Given the description of an element on the screen output the (x, y) to click on. 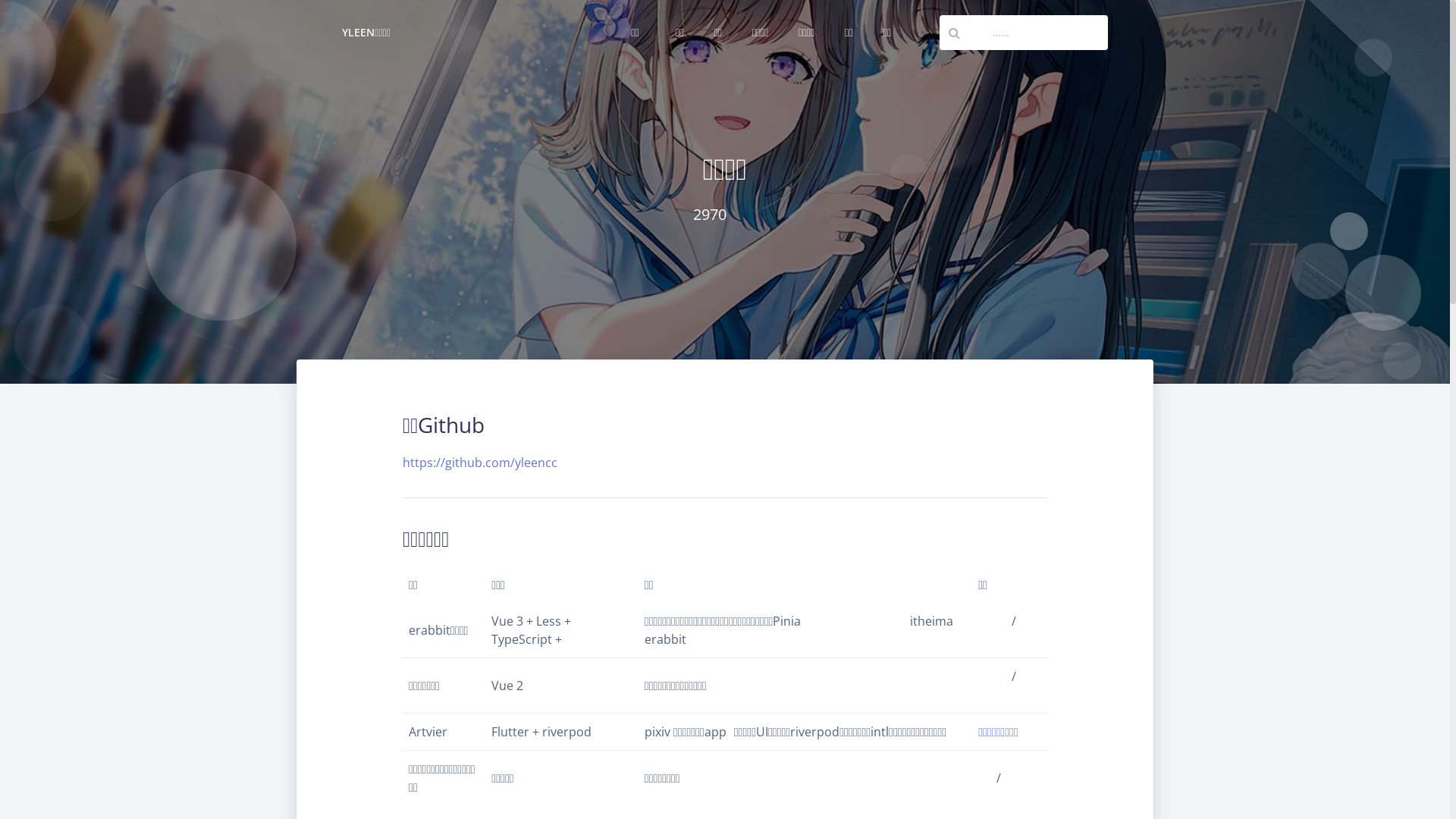
https://github.com/yleencc Element type: text (479, 462)
